Given the description of an element on the screen output the (x, y) to click on. 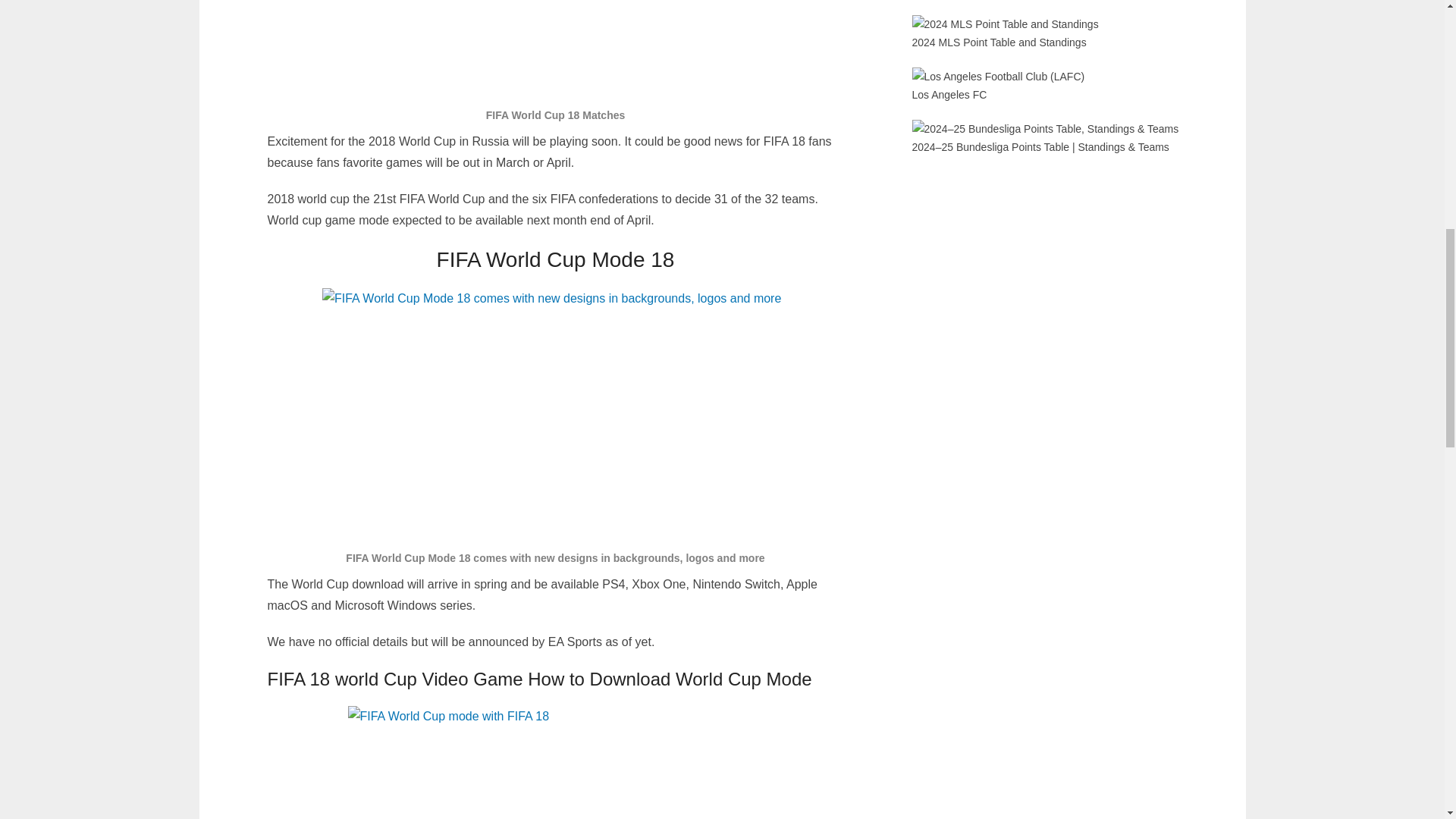
FIFA World Cup Mode 18 2 (555, 49)
FIFA World Cup Mode 18 3 (554, 762)
